Given the description of an element on the screen output the (x, y) to click on. 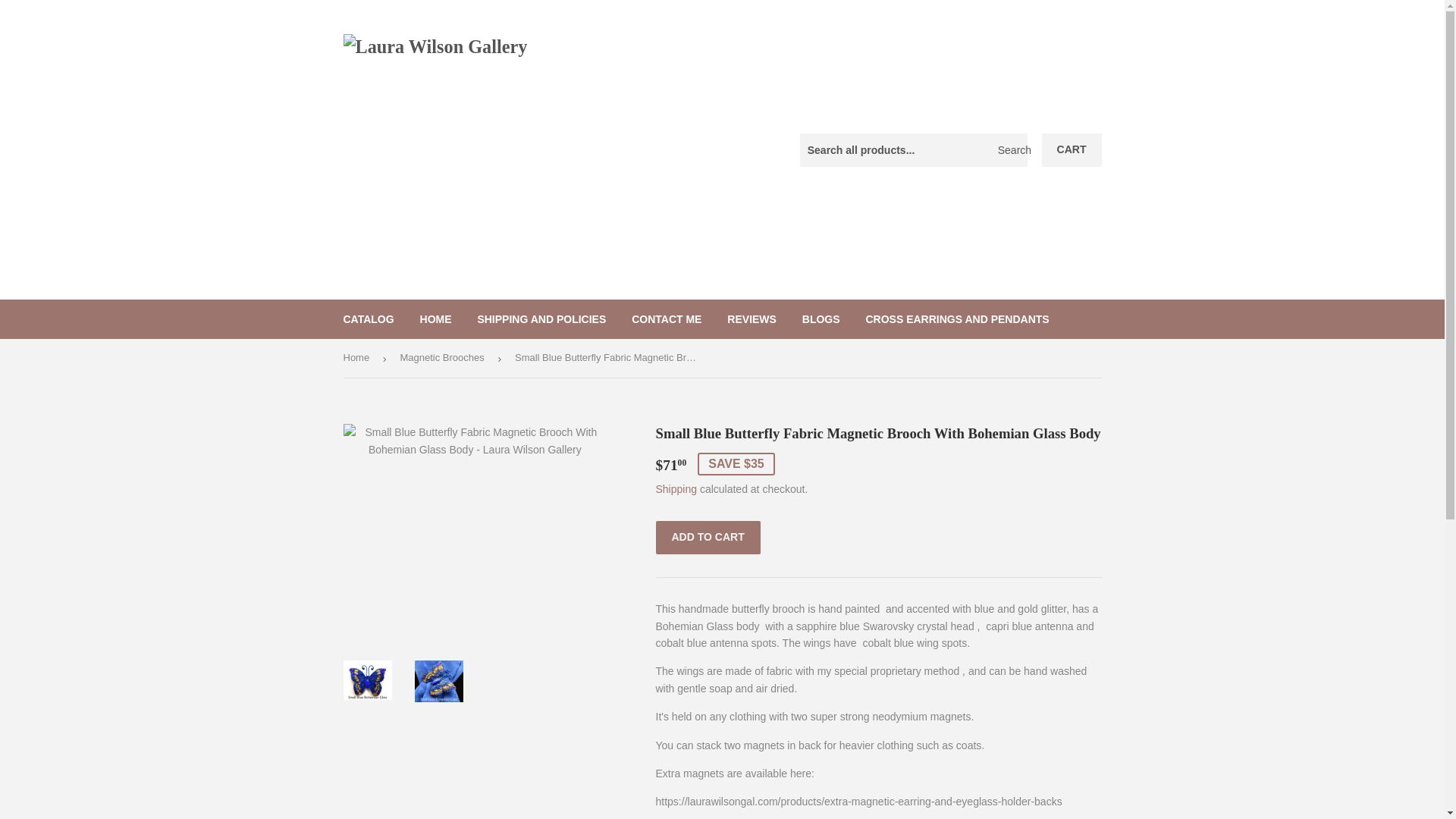
Back to the frontpage (358, 358)
CATALOG (368, 319)
CART (1072, 150)
Search (1009, 151)
